Given the description of an element on the screen output the (x, y) to click on. 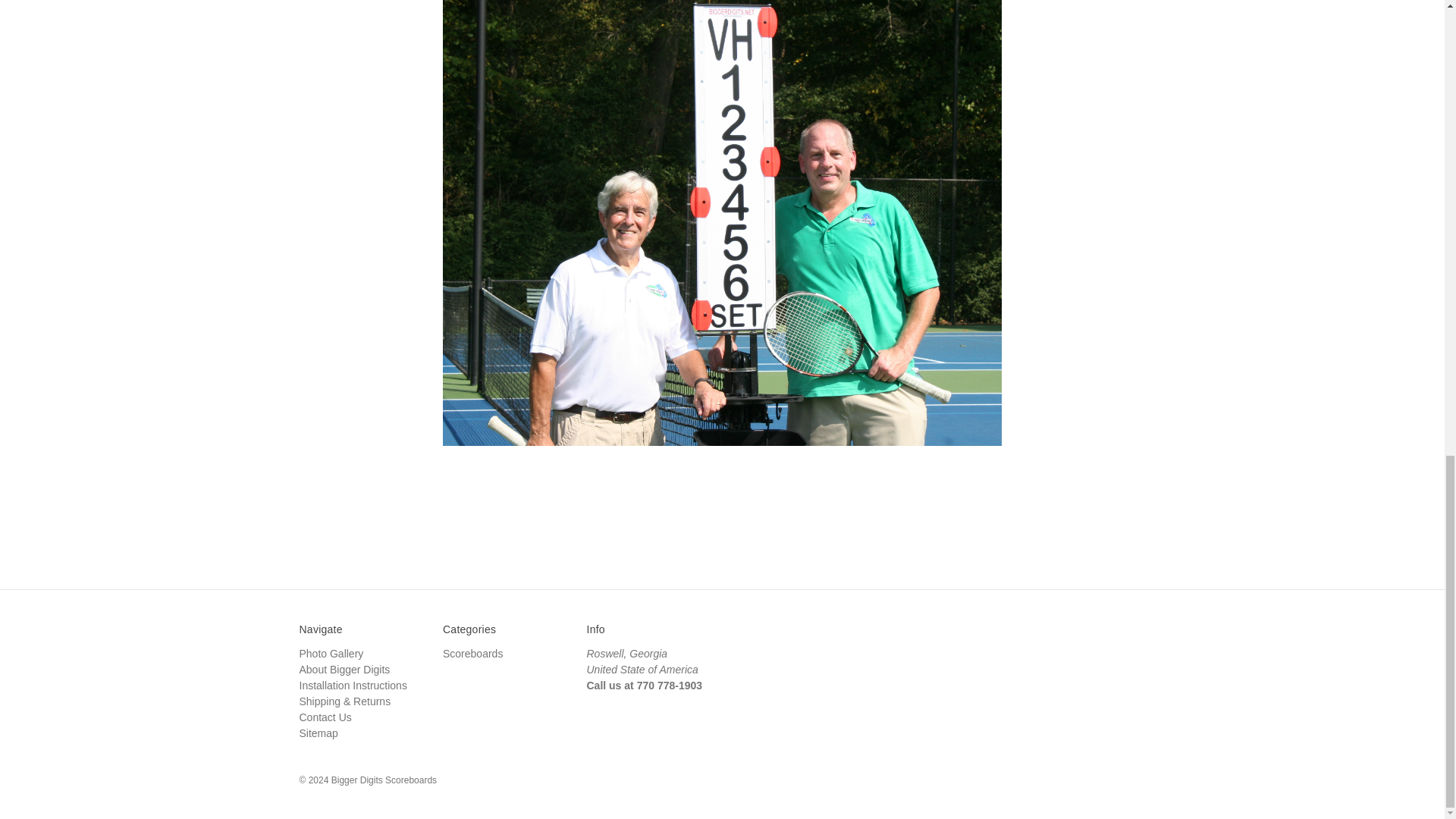
Scoreboards (472, 653)
Installation Instructions (352, 685)
About Bigger Digits (344, 669)
Contact Us (324, 717)
Photo Gallery (330, 653)
Sitemap (317, 733)
